Given the description of an element on the screen output the (x, y) to click on. 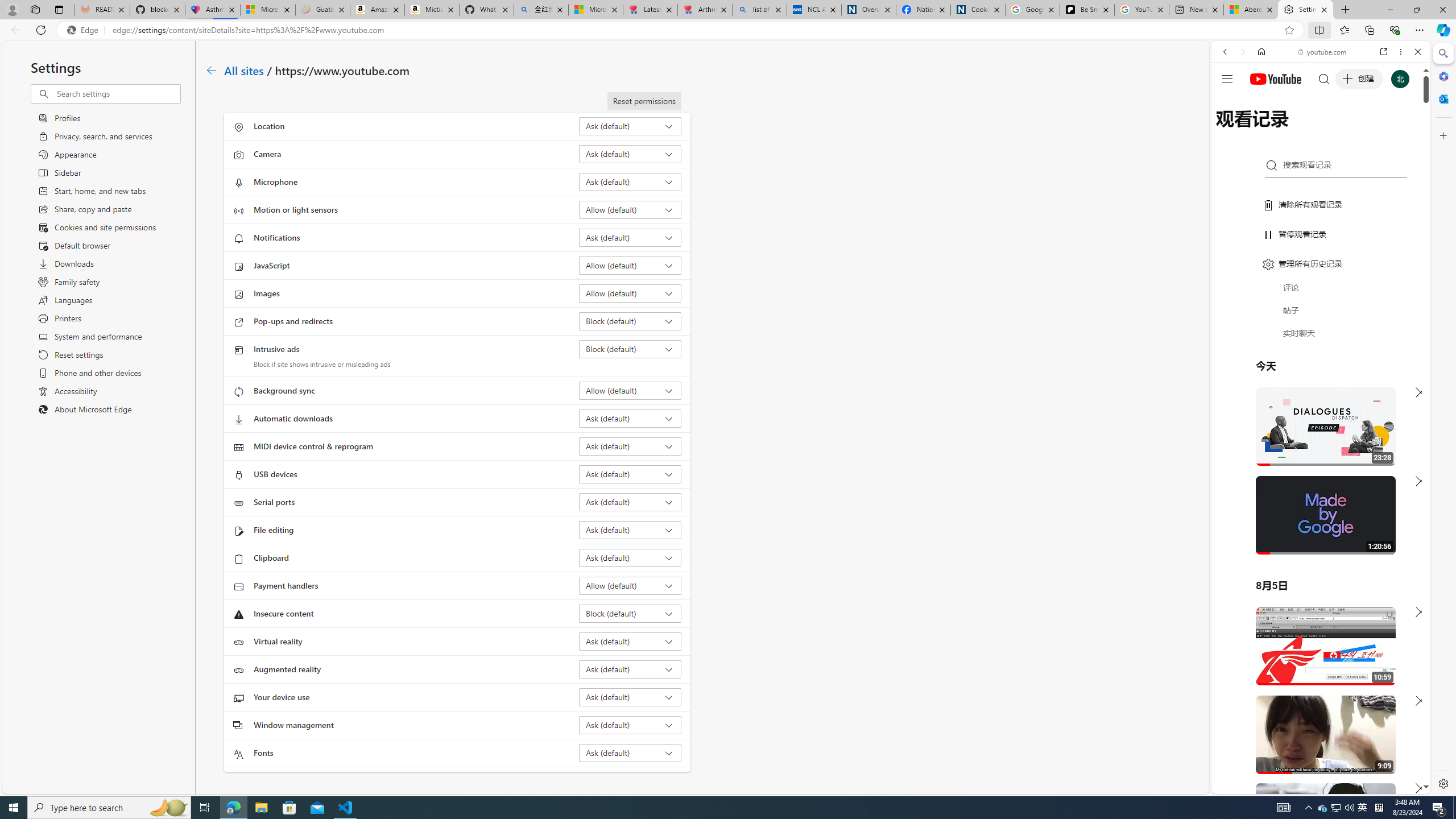
YouTube - YouTube (1315, 560)
Search settings (117, 93)
Trailer #2 [HD] (1320, 337)
Side bar (1443, 418)
you (1315, 755)
Automatic downloads Ask (default) (630, 418)
Class: c01162 (210, 70)
Location Ask (default) (630, 126)
#you (1315, 659)
